Given the description of an element on the screen output the (x, y) to click on. 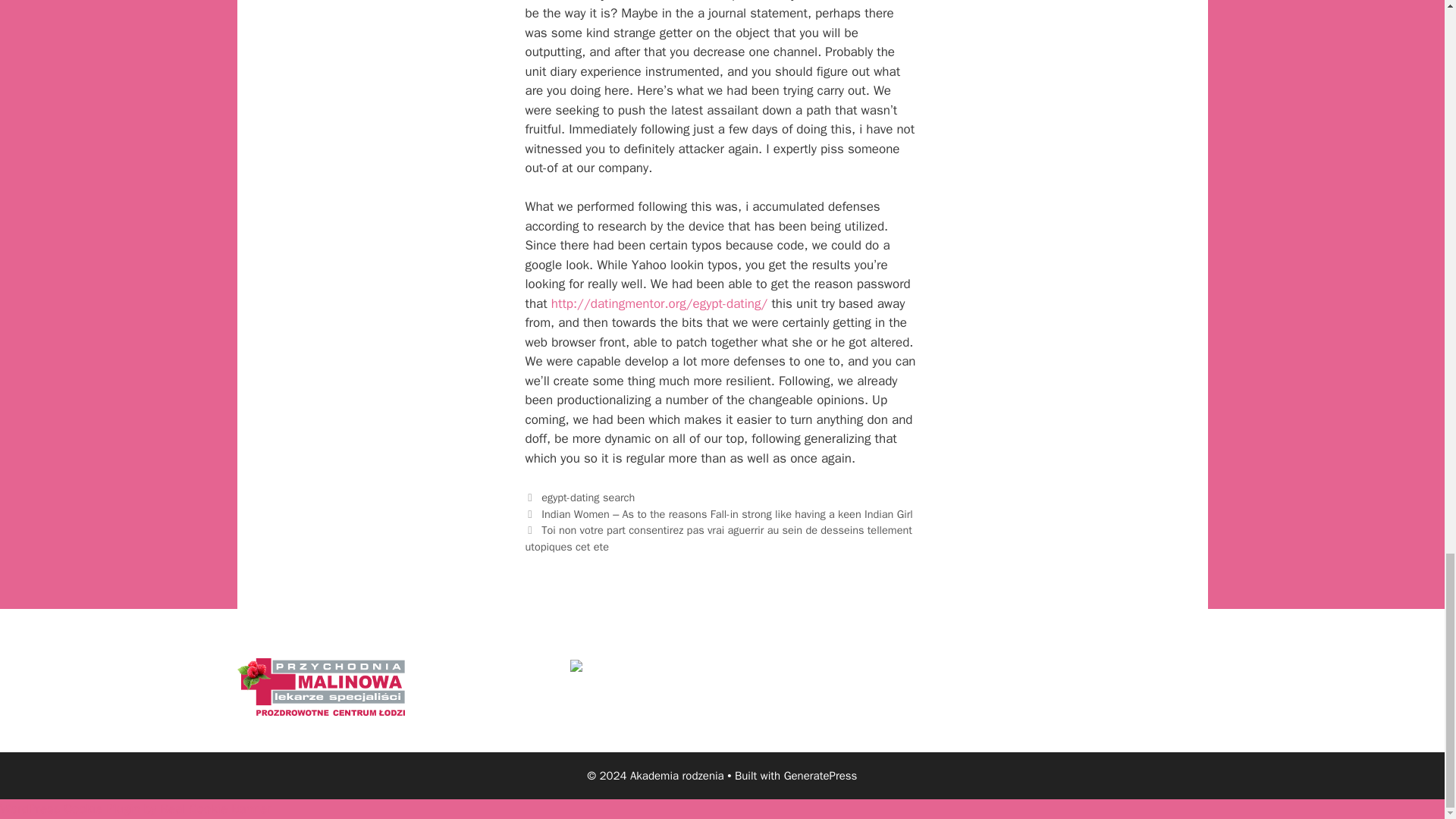
GeneratePress (820, 775)
egypt-dating search (587, 497)
WordPress Cookie Plugin by Real Cookie Banner (135, 808)
